Given the description of an element on the screen output the (x, y) to click on. 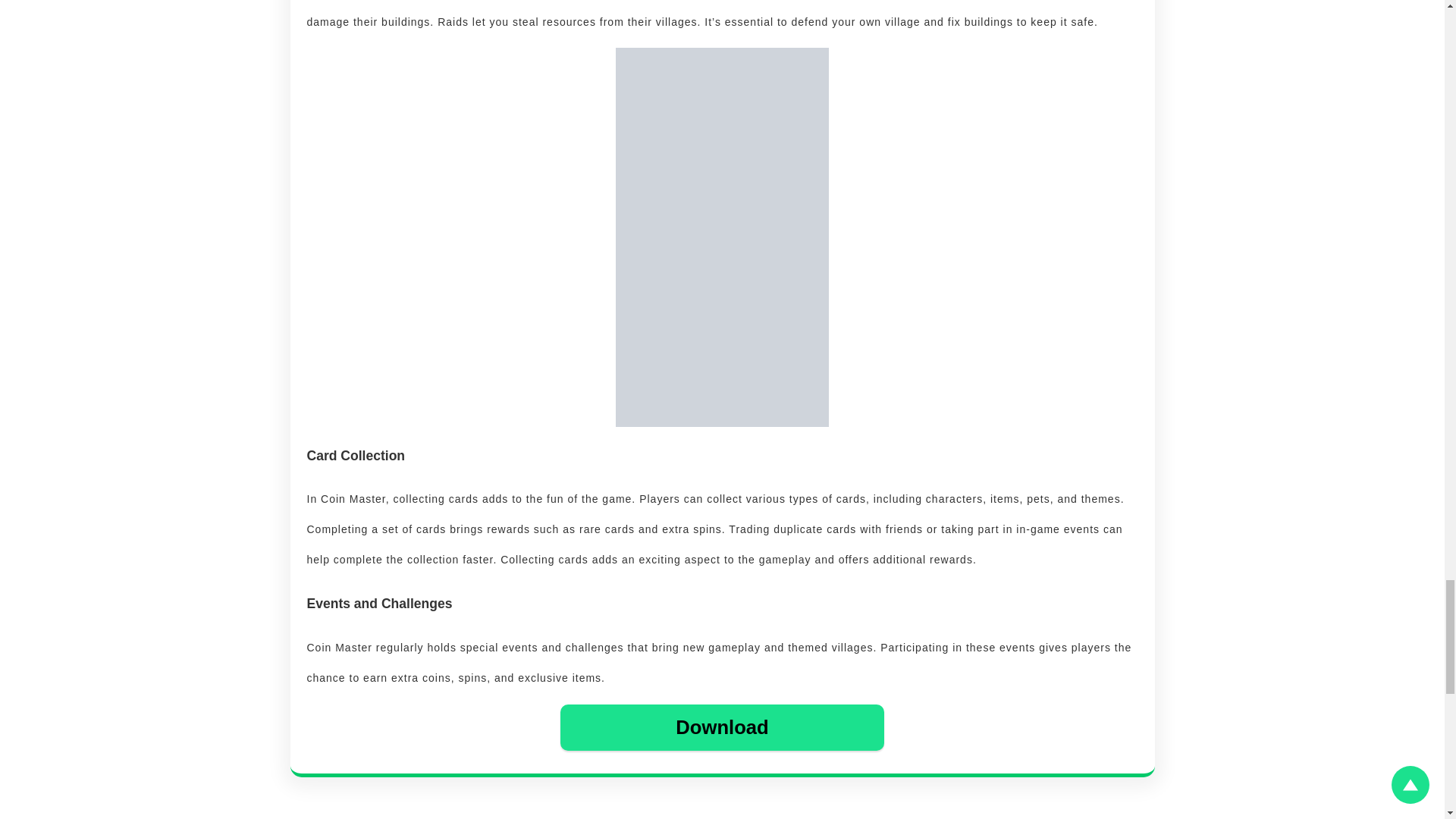
Download (721, 726)
Download (721, 726)
Download Coin Master Mod Apk (721, 726)
